Given the description of an element on the screen output the (x, y) to click on. 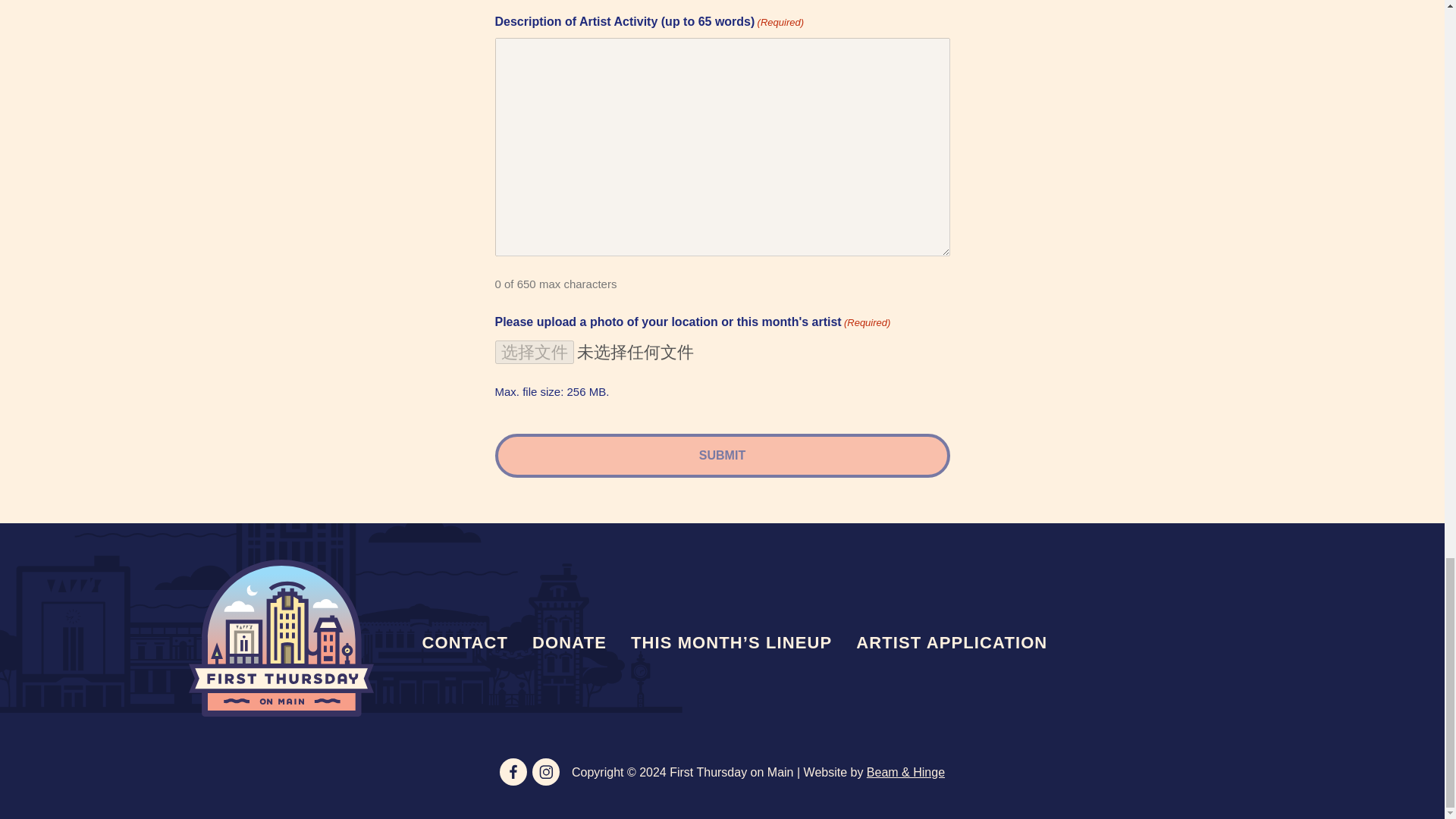
DONATE (568, 642)
CONTACT (464, 642)
Facebook (513, 771)
Instagram (545, 771)
Submit (722, 455)
ARTIST APPLICATION (951, 642)
Submit (722, 455)
